Given the description of an element on the screen output the (x, y) to click on. 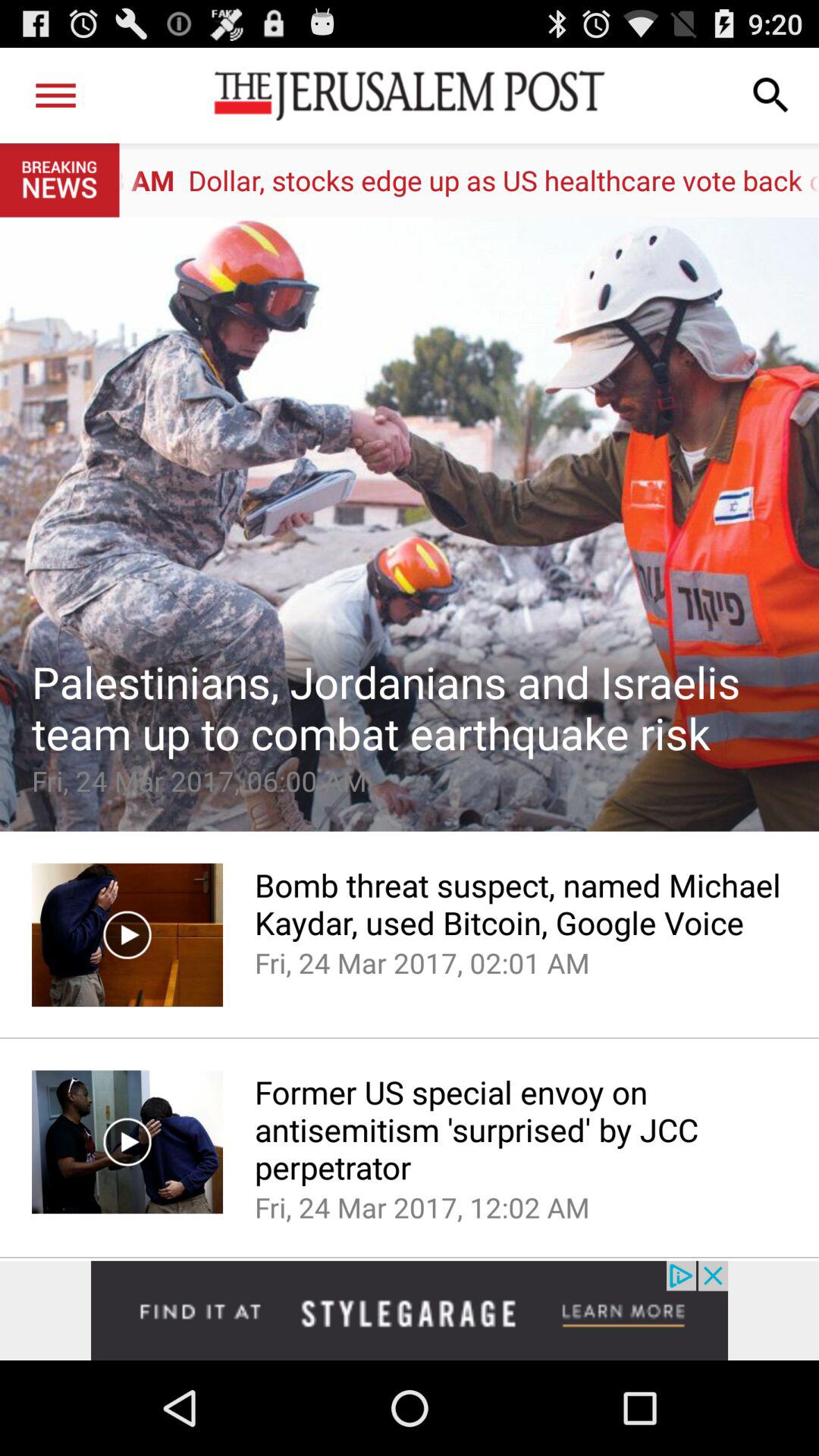
open the article (409, 524)
